Given the description of an element on the screen output the (x, y) to click on. 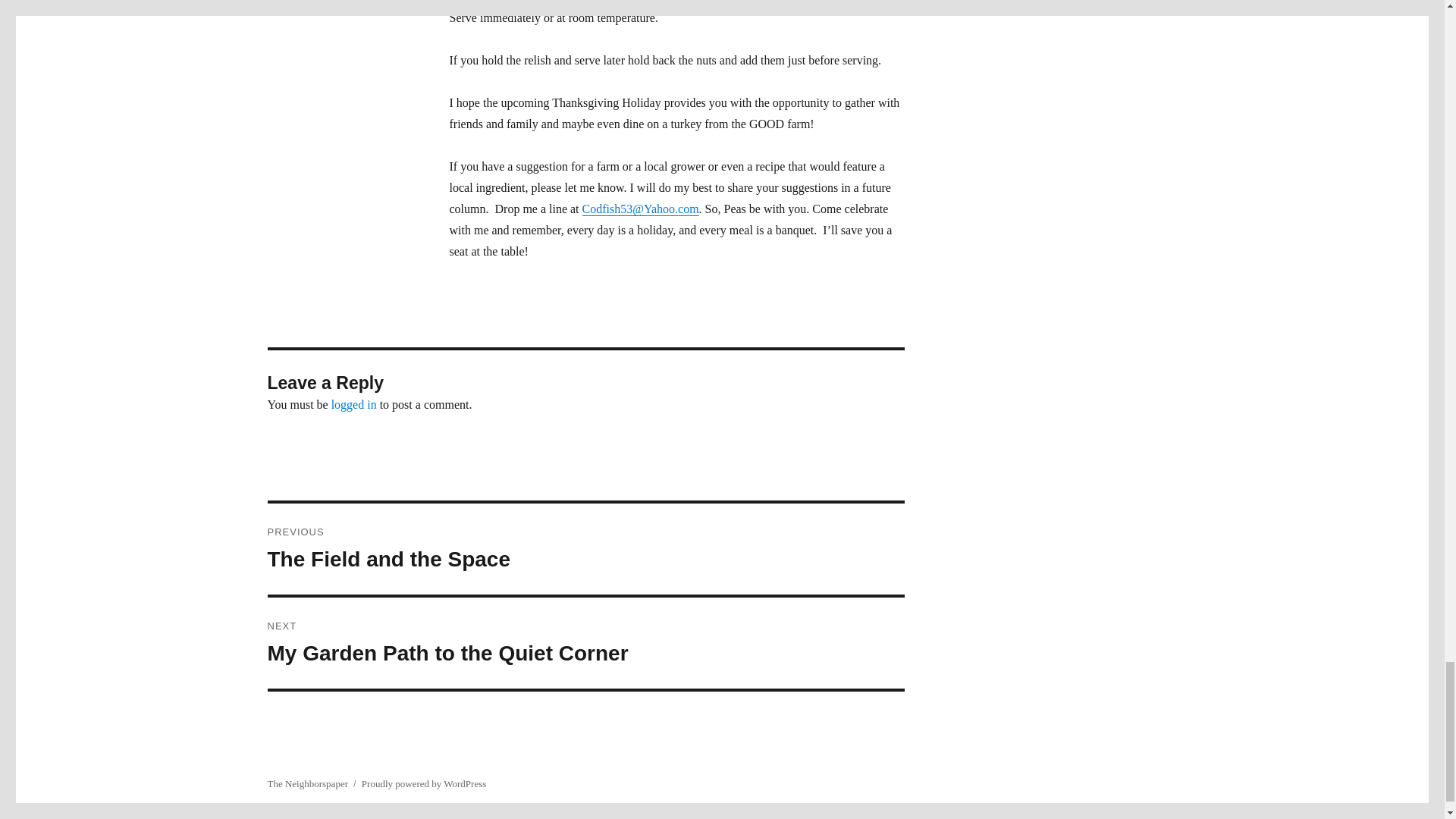
logged in (585, 642)
